Given the description of an element on the screen output the (x, y) to click on. 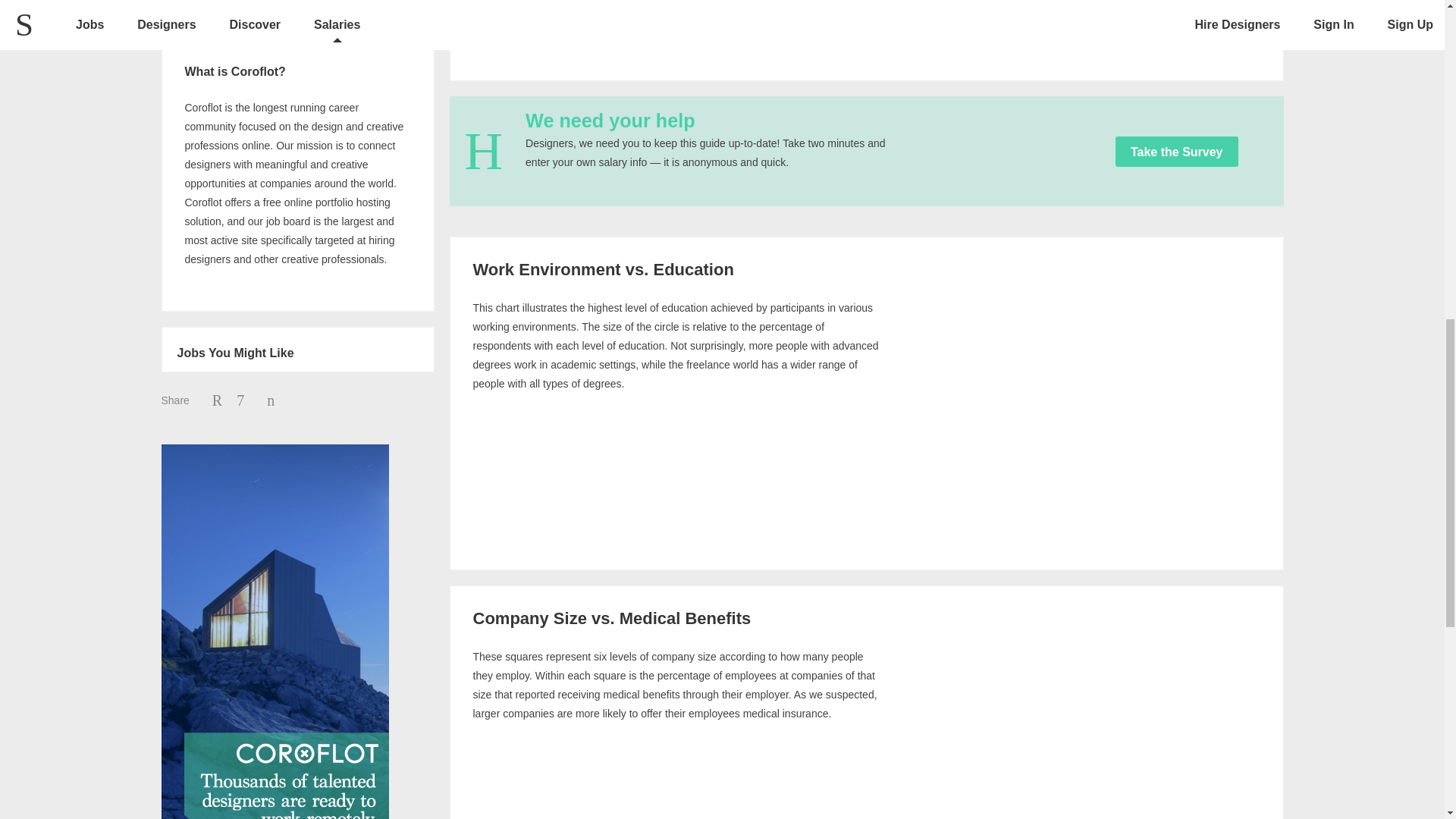
Take the Survey (1177, 151)
